Given the description of an element on the screen output the (x, y) to click on. 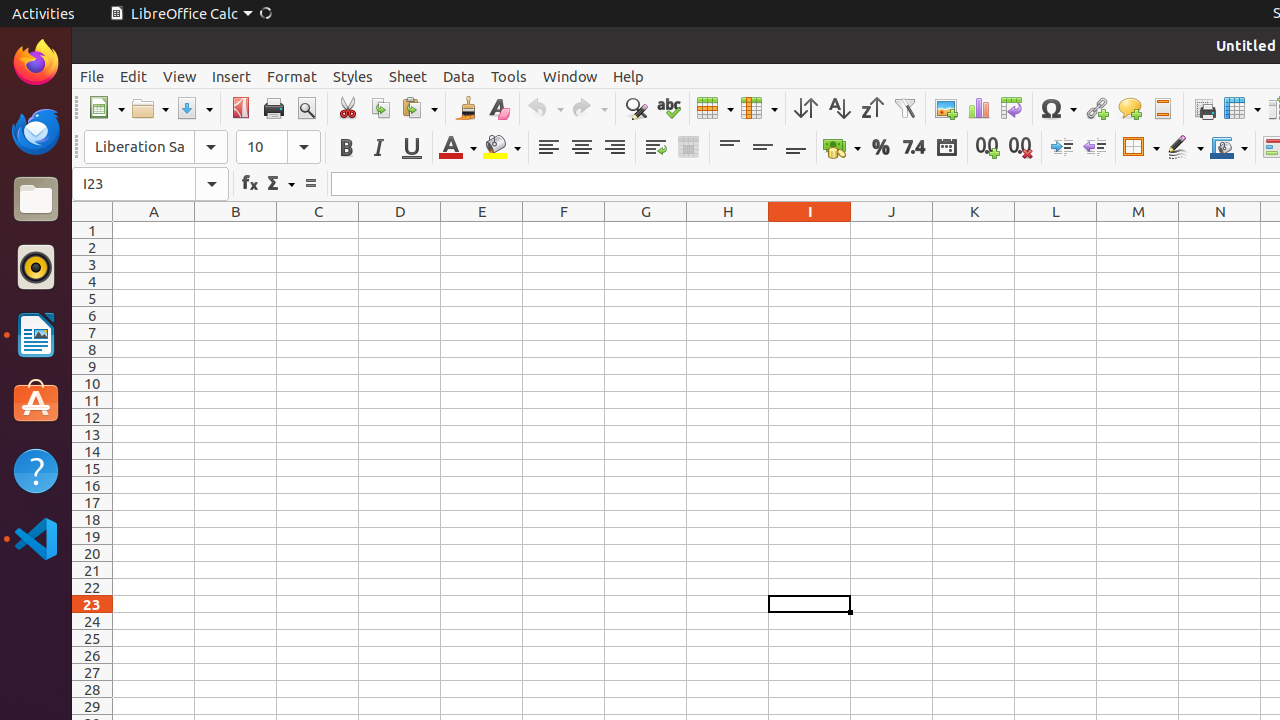
Merge and Center Cells Element type: push-button (688, 147)
Save Element type: push-button (194, 108)
Name Box Element type: panel (150, 184)
Border Color Element type: push-button (1229, 147)
Redo Element type: push-button (589, 108)
